Given the description of an element on the screen output the (x, y) to click on. 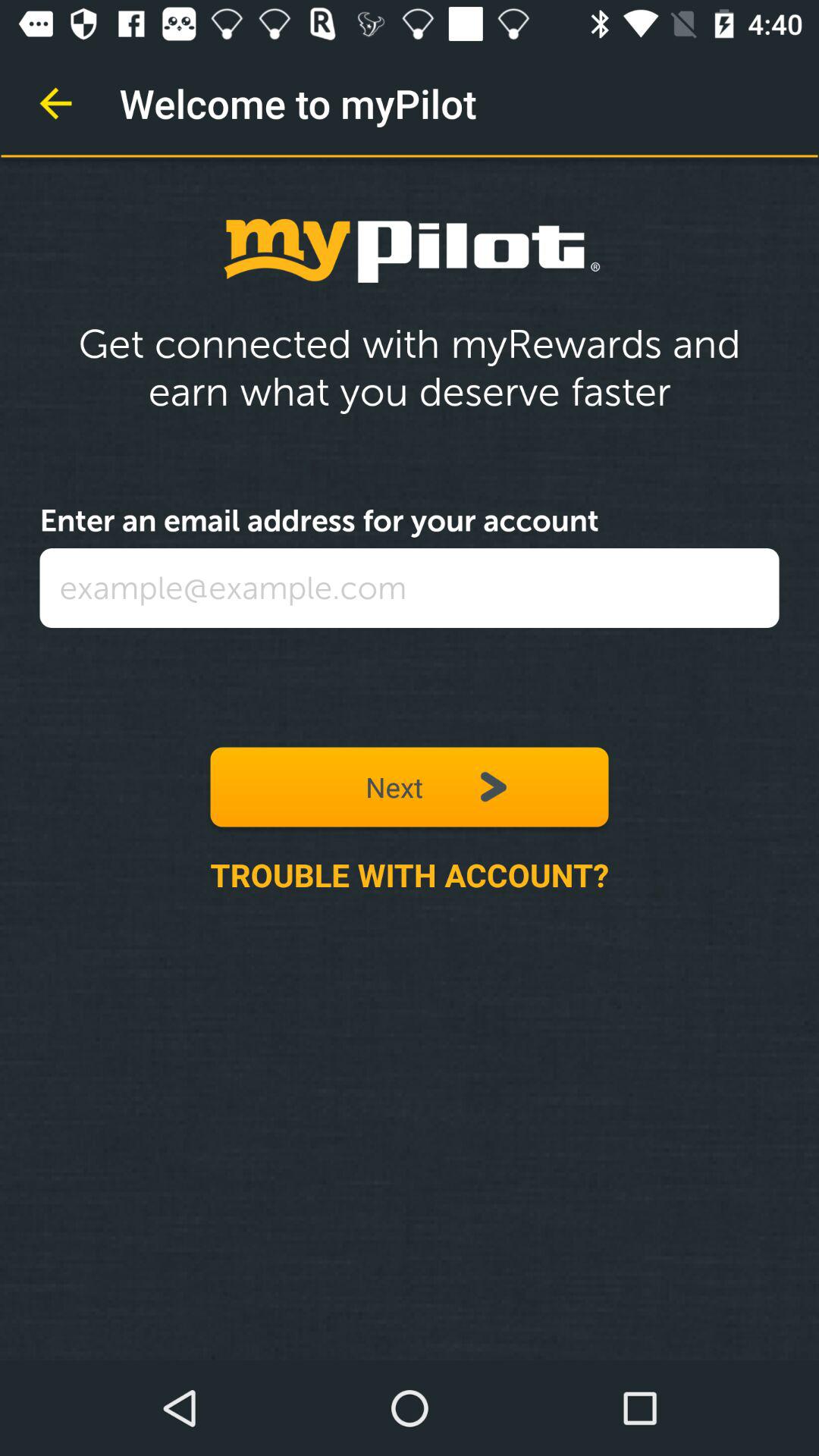
click the trouble with account? (409, 874)
